Given the description of an element on the screen output the (x, y) to click on. 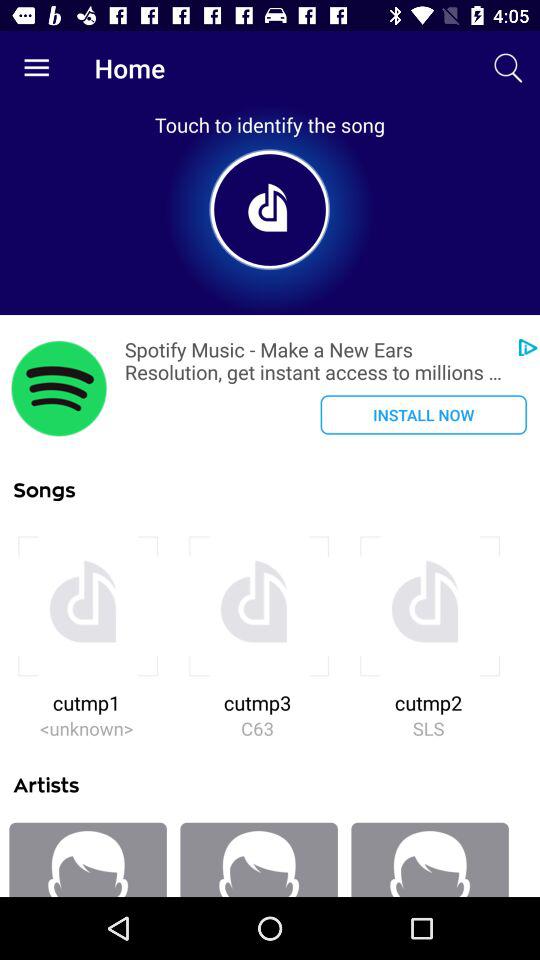
press the icon to the right of home (508, 67)
